Given the description of an element on the screen output the (x, y) to click on. 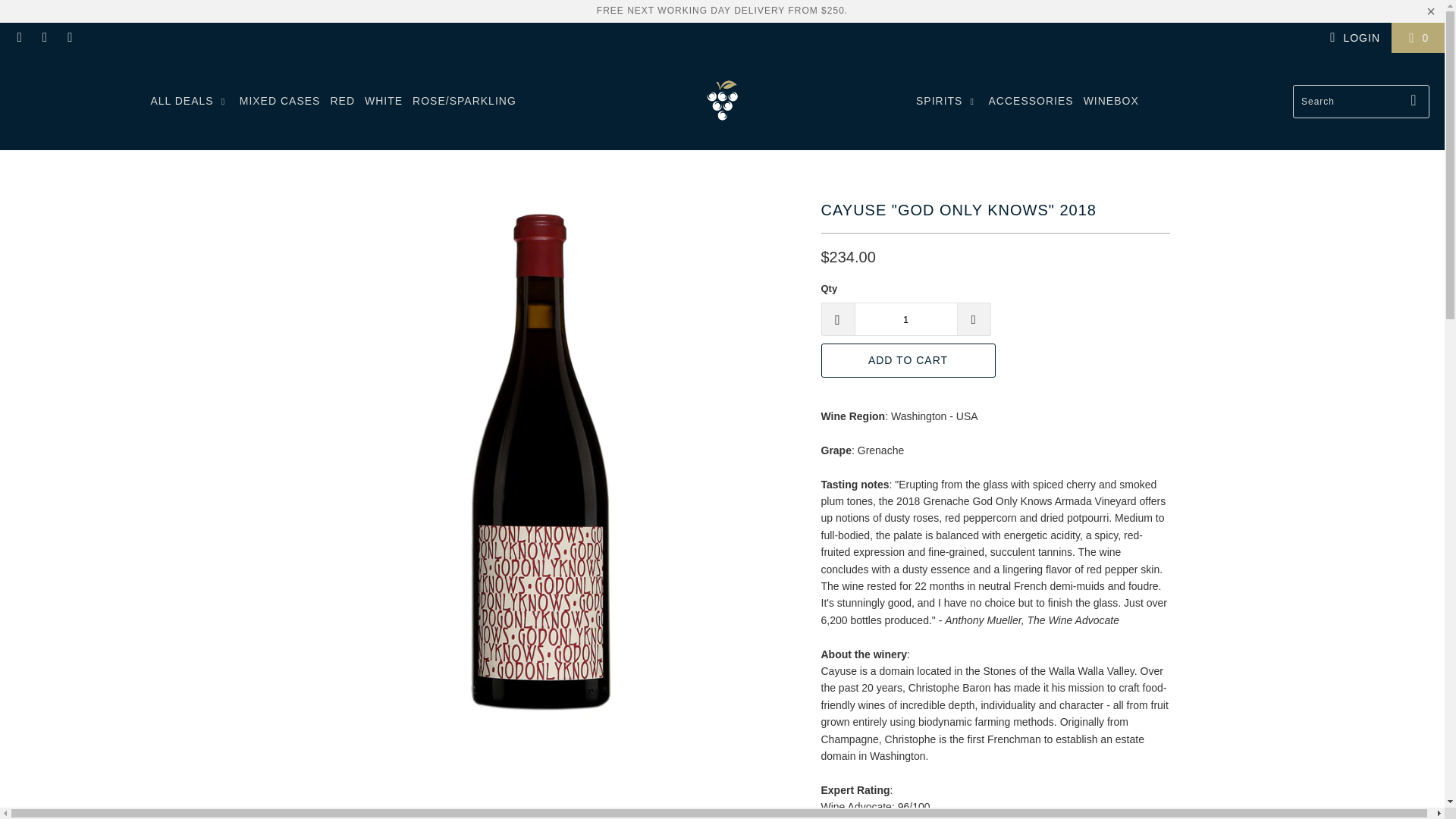
My Account  (1352, 37)
WineFamily on Instagram (43, 37)
1 (904, 318)
WineFamily on Facebook (18, 37)
WineFamily (721, 101)
Email WineFamily (69, 37)
